Given the description of an element on the screen output the (x, y) to click on. 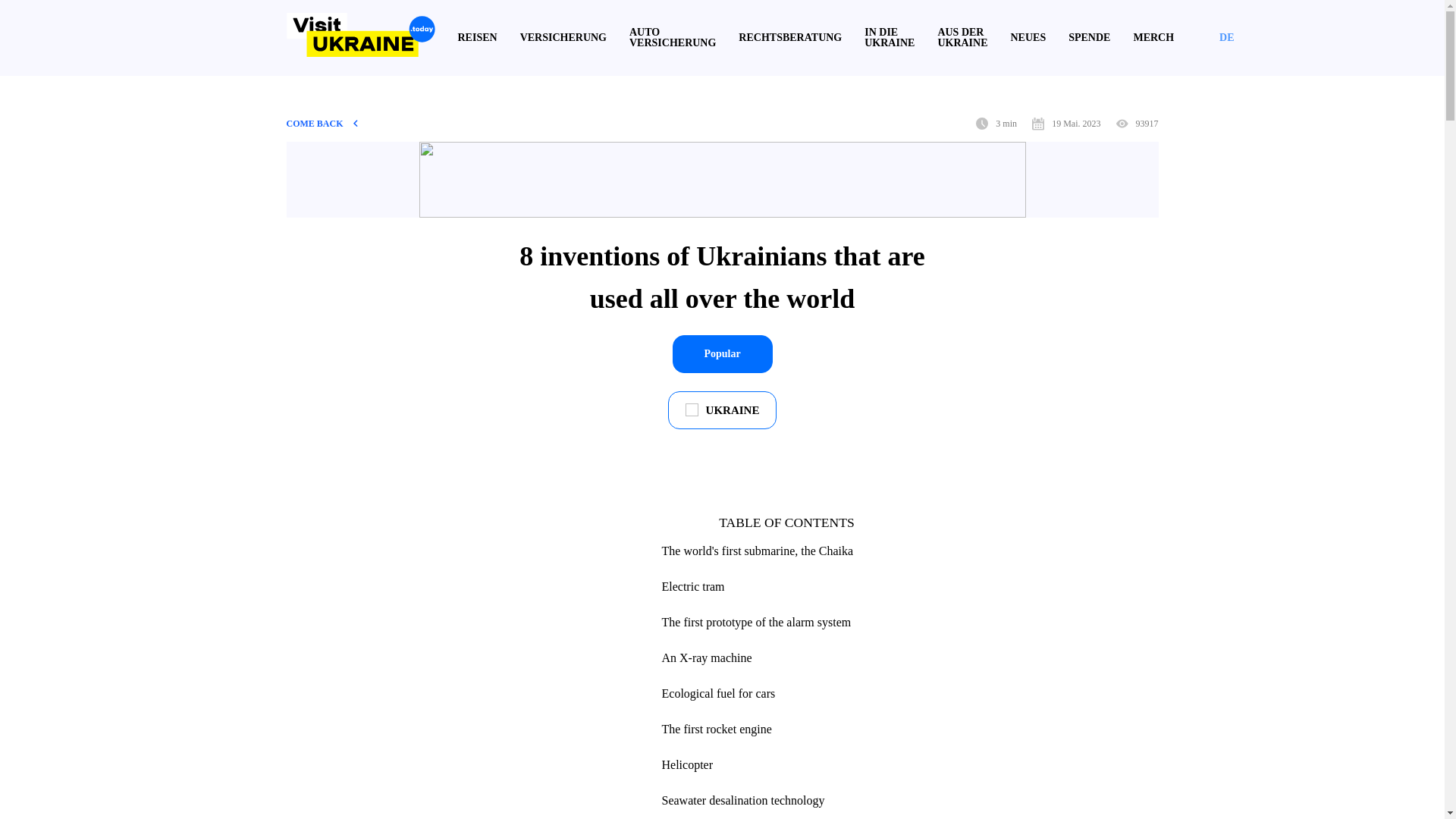
VERSICHERUNG (563, 37)
RECHTSBERATUNG (789, 37)
AUTO VERSICHERUNG (672, 37)
REISEN (477, 37)
